Given the description of an element on the screen output the (x, y) to click on. 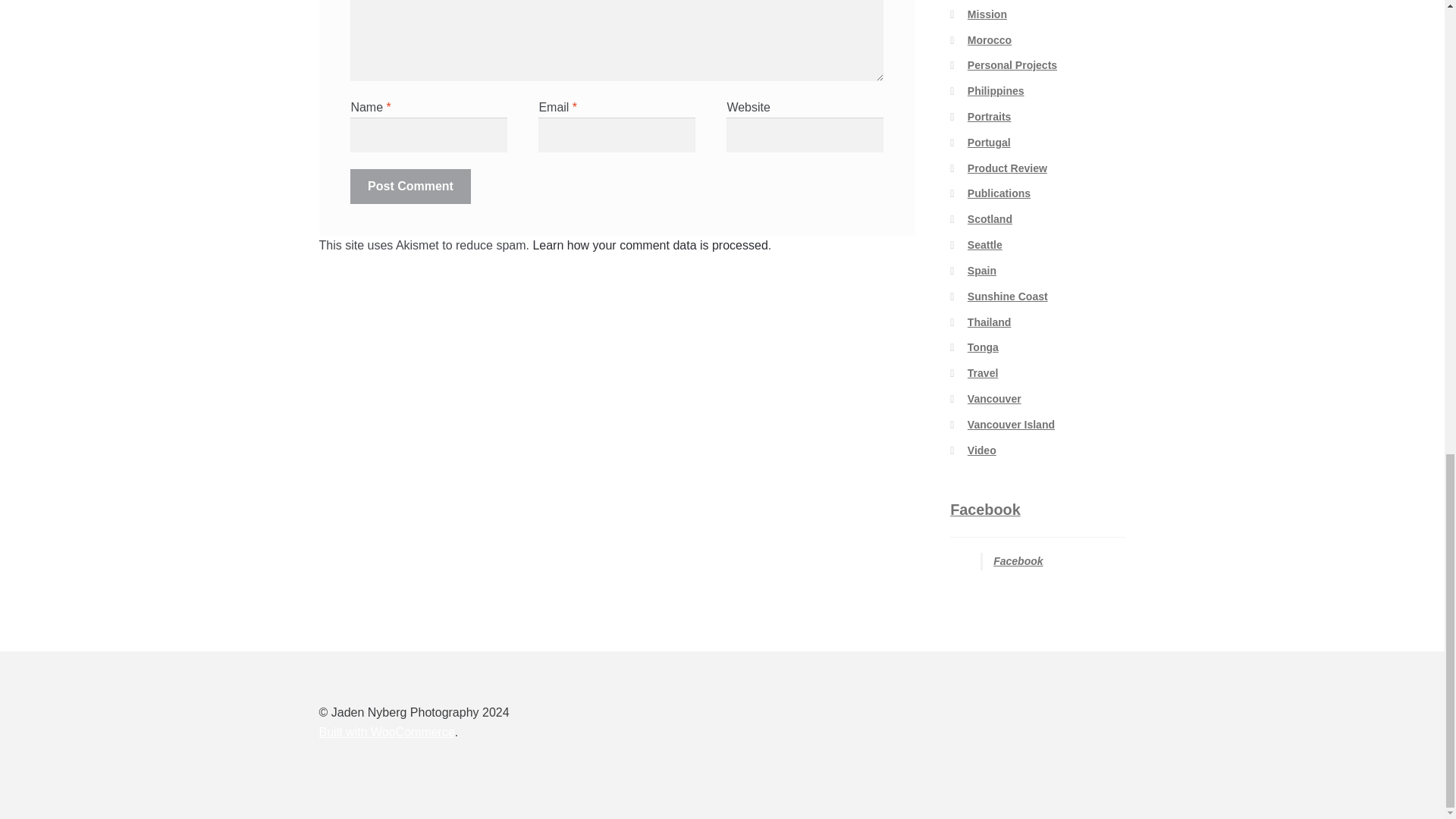
Post Comment (410, 185)
Post Comment (410, 185)
Learn how your comment data is processed (649, 245)
WooCommerce - The Best eCommerce Platform for WordPress (386, 731)
